Given the description of an element on the screen output the (x, y) to click on. 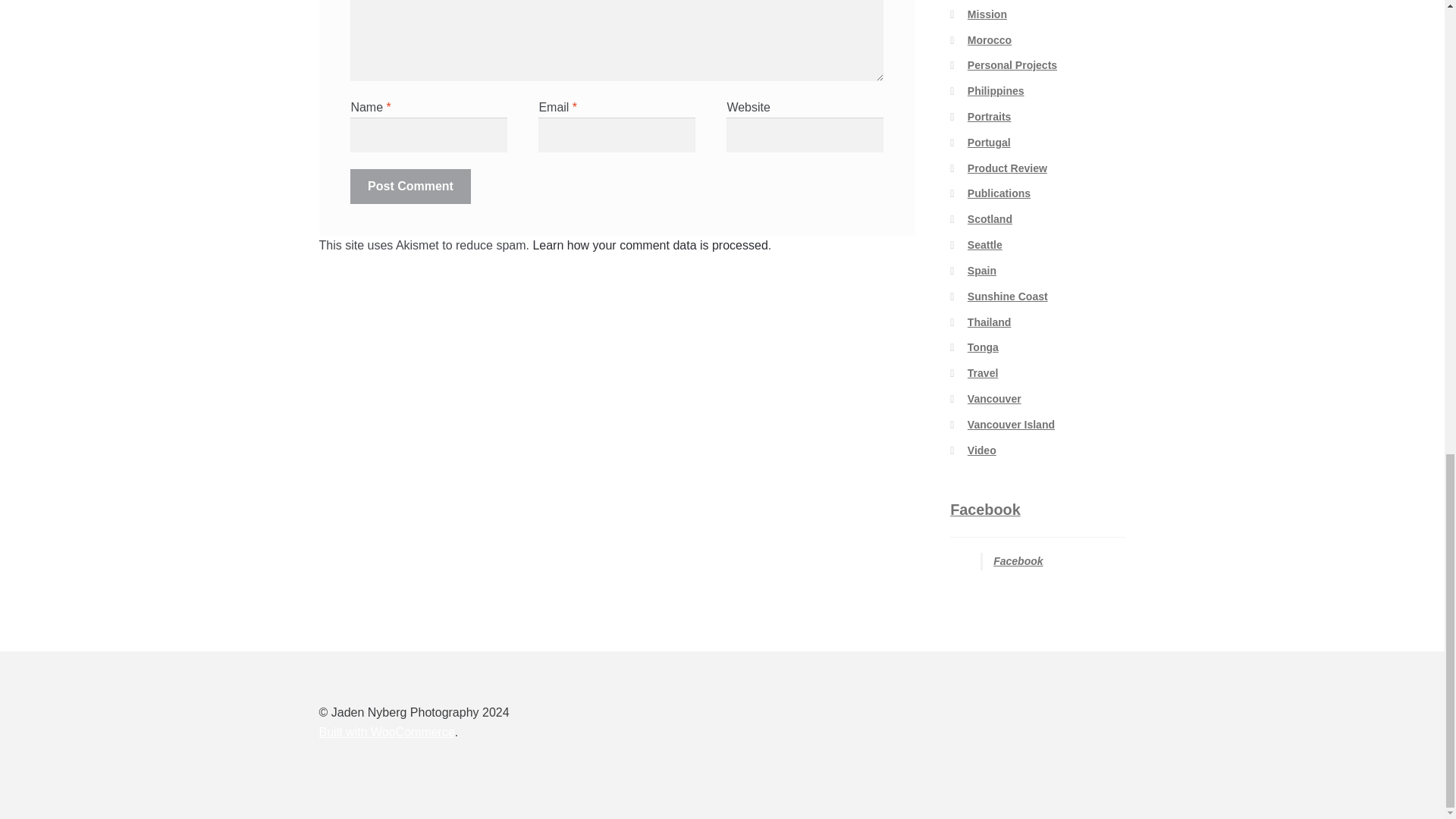
Post Comment (410, 185)
Post Comment (410, 185)
Learn how your comment data is processed (649, 245)
WooCommerce - The Best eCommerce Platform for WordPress (386, 731)
